Given the description of an element on the screen output the (x, y) to click on. 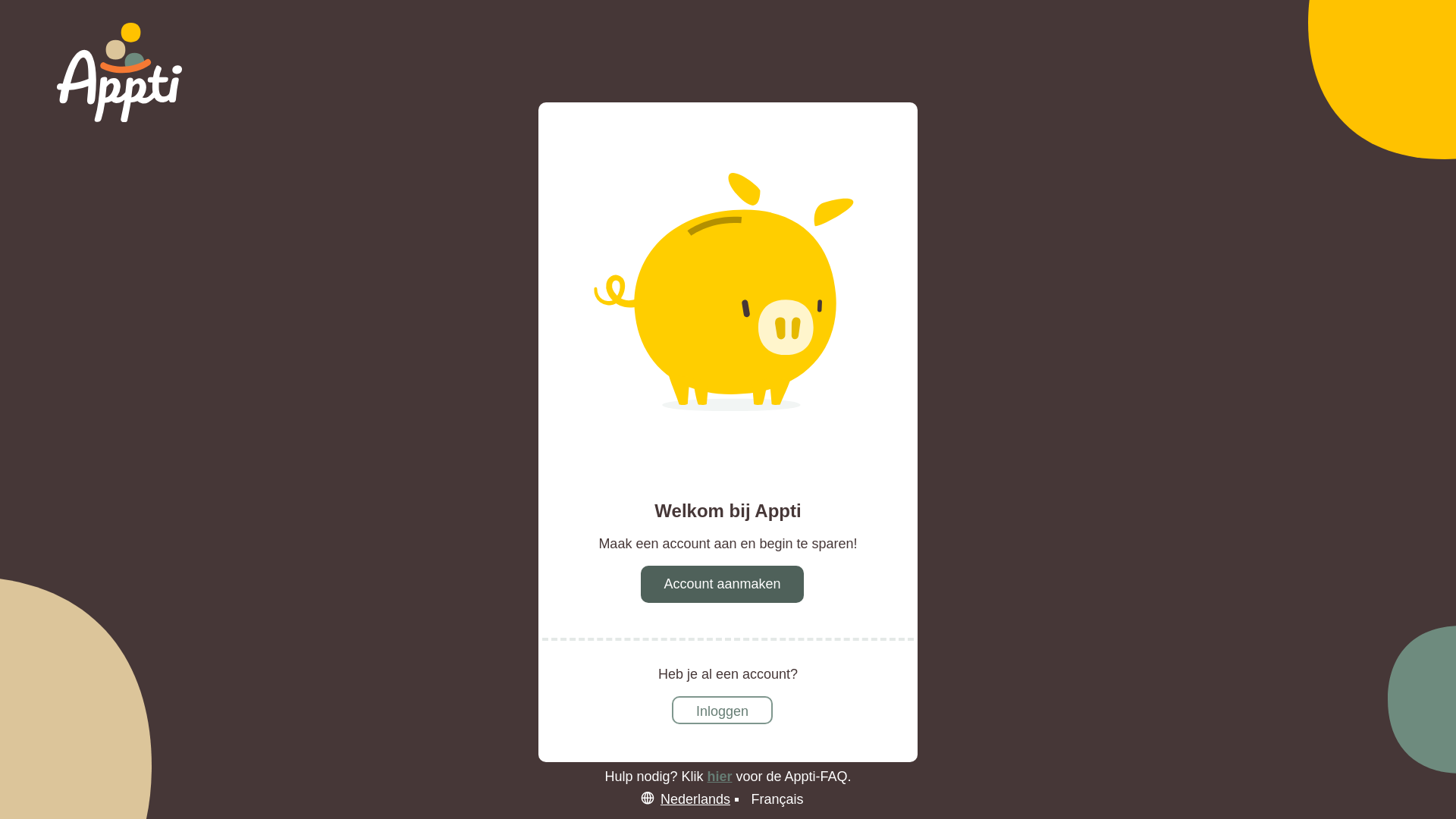
hier Element type: text (718, 776)
Inloggen Element type: text (721, 710)
Account aanmaken Element type: text (721, 584)
